Given the description of an element on the screen output the (x, y) to click on. 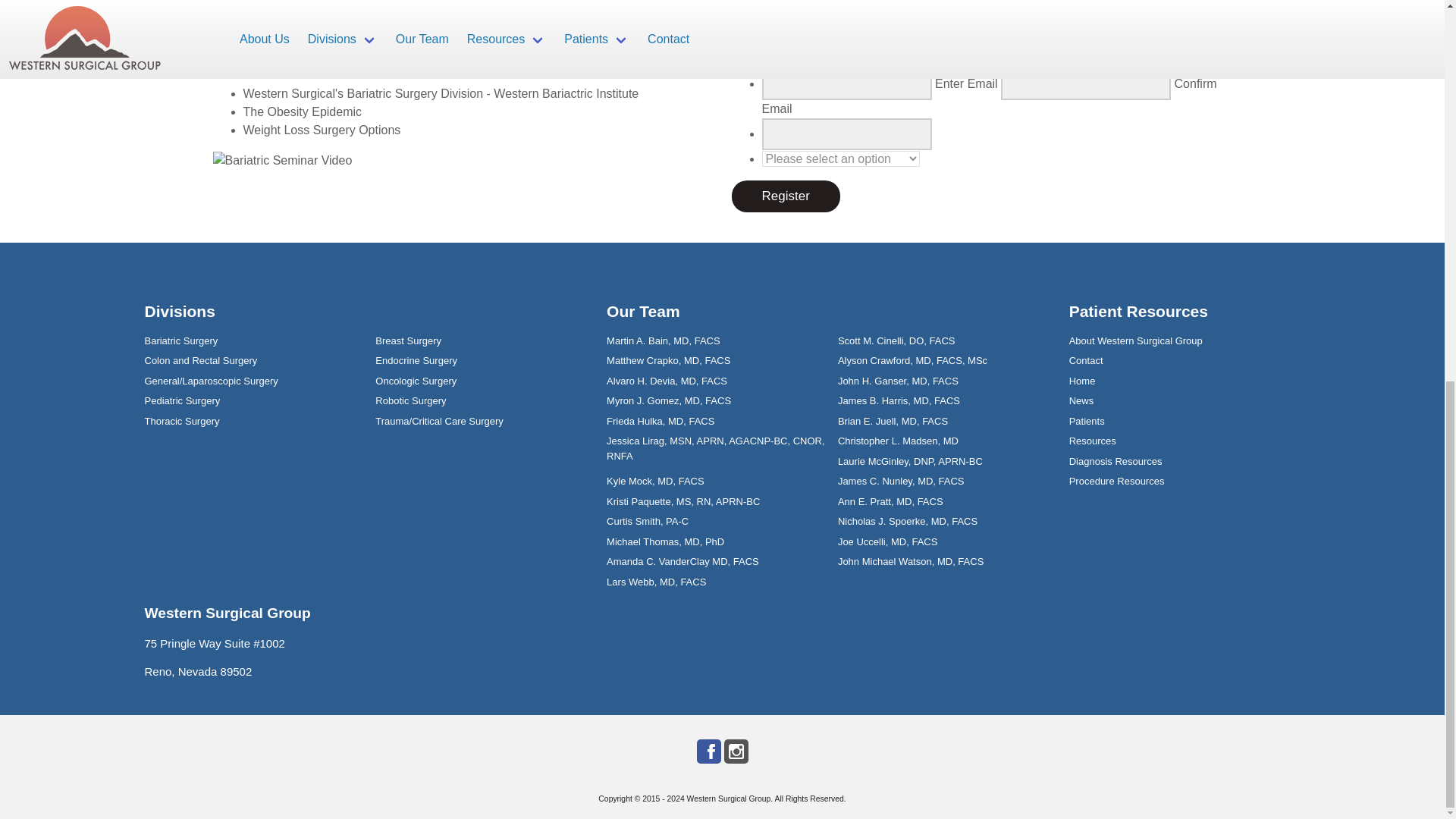
Follow on Instagram (735, 751)
Follow on Facebook (707, 751)
Breast Surgery (408, 340)
Bariatric Surgery (180, 340)
Western Surgical Group (729, 798)
Register (785, 196)
Register (785, 196)
